Given the description of an element on the screen output the (x, y) to click on. 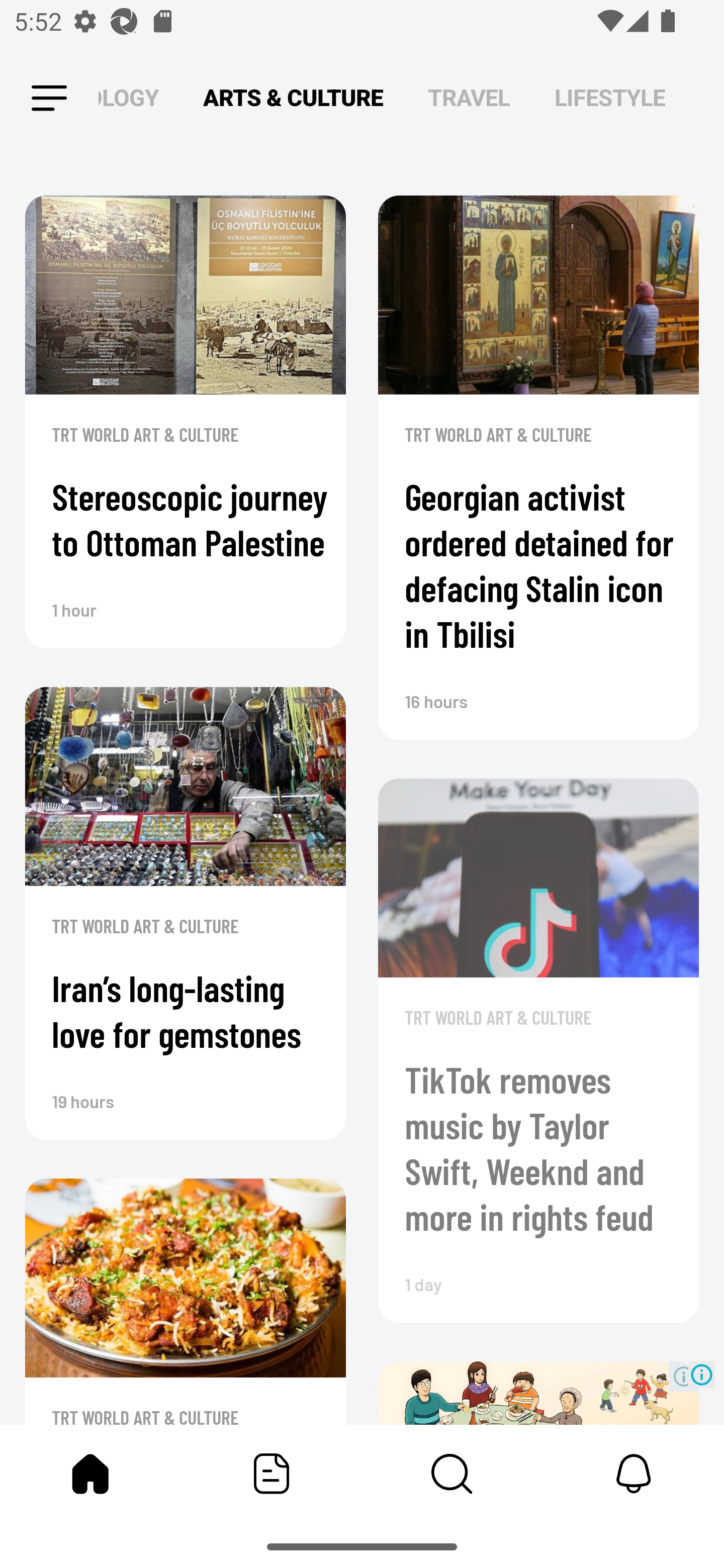
Leading Icon (49, 98)
TECHNOLOGY (128, 97)
TRAVEL (469, 97)
LIFESTYLE (609, 97)
Ad Choices Icon (701, 1374)
Featured (271, 1473)
Content Store (452, 1473)
Notifications (633, 1473)
